Given the description of an element on the screen output the (x, y) to click on. 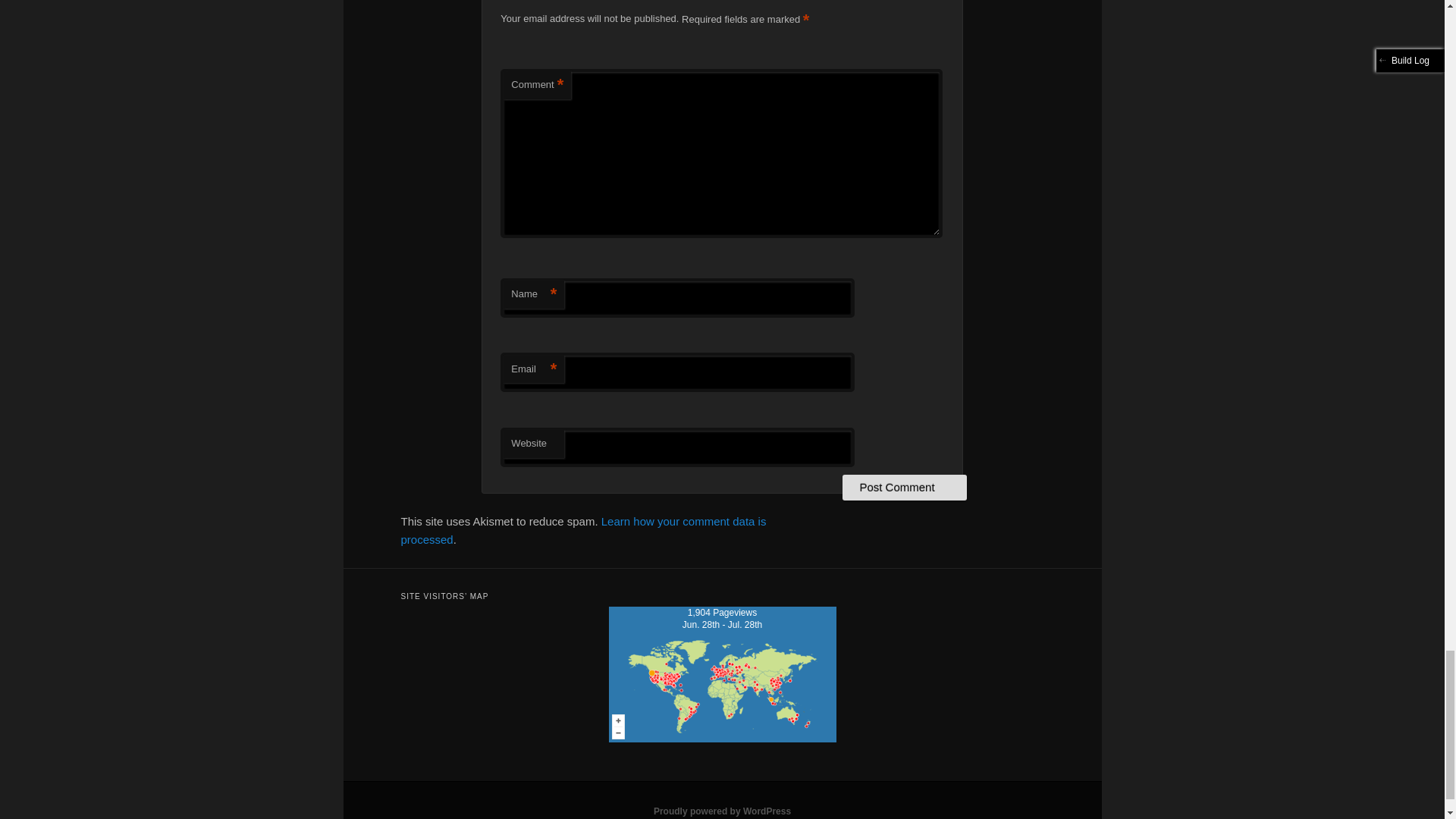
Semantic Personal Publishing Platform (721, 810)
Post Comment (904, 487)
